Given the description of an element on the screen output the (x, y) to click on. 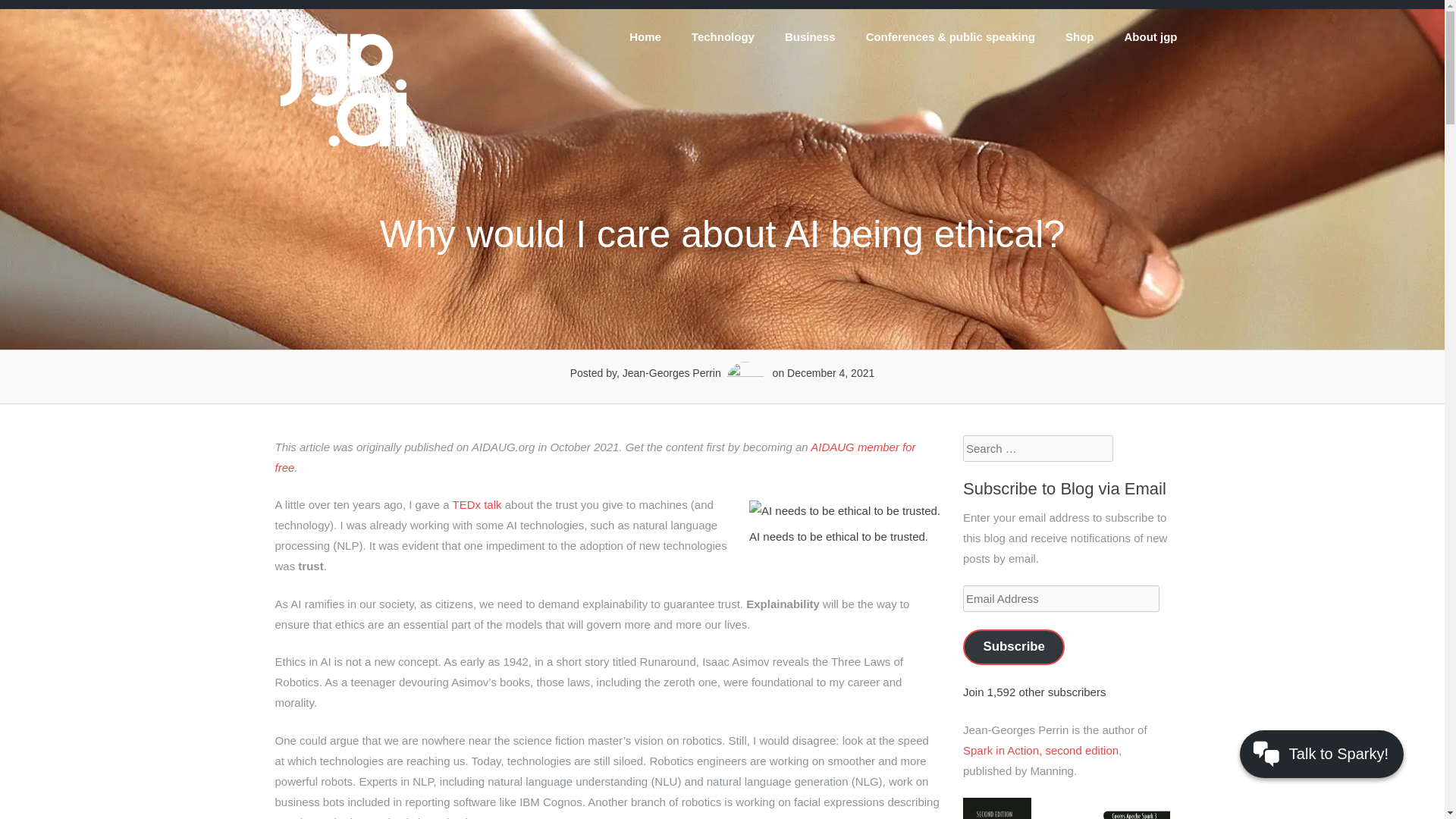
Technology (723, 36)
Home (645, 36)
Shop (1079, 36)
jgp.ai (342, 146)
Business (810, 36)
About jgp (1150, 36)
